Given the description of an element on the screen output the (x, y) to click on. 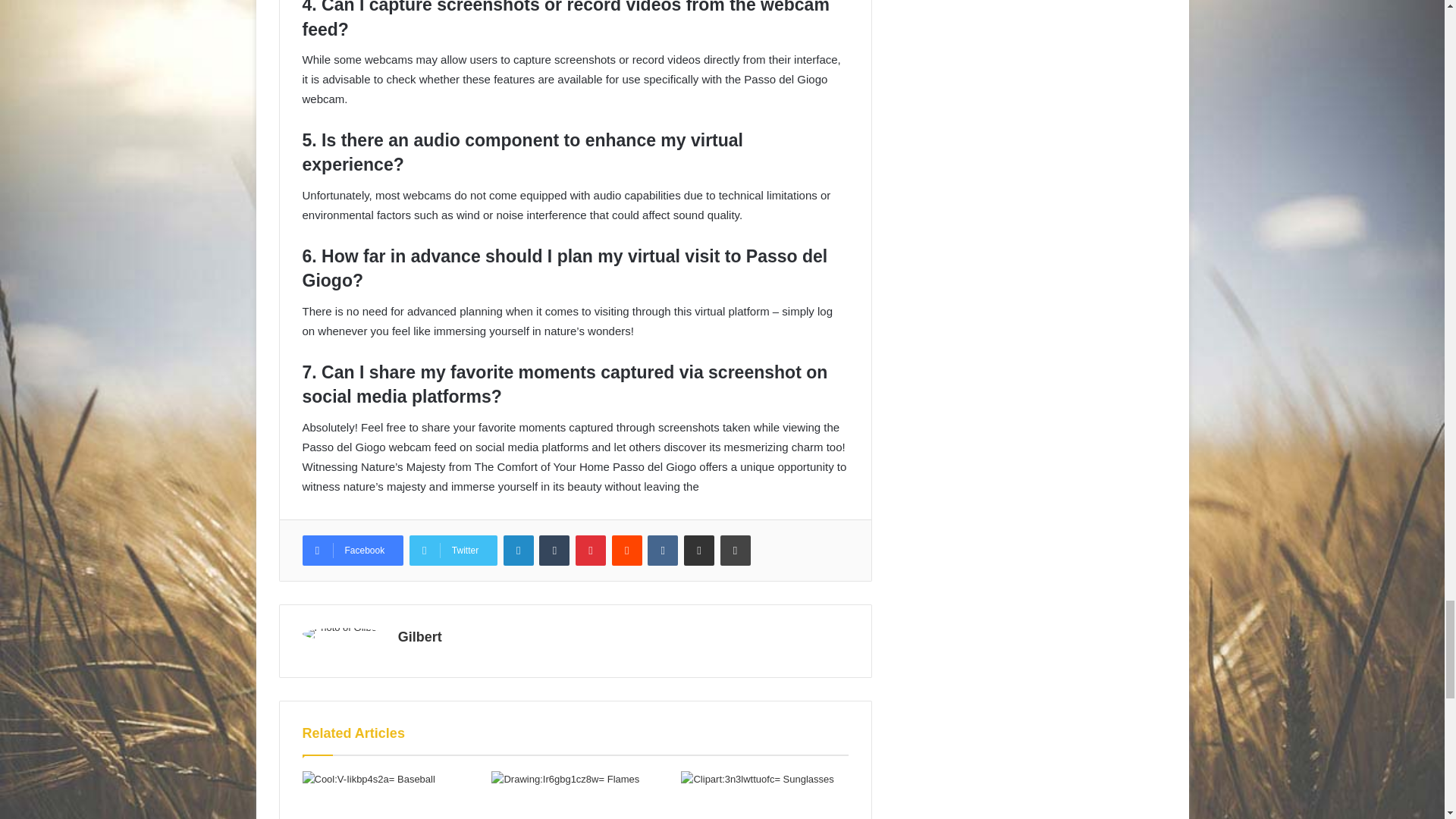
Reddit (626, 550)
Facebook (352, 550)
Print (735, 550)
Gilbert (419, 636)
Print (735, 550)
VKontakte (662, 550)
Share via Email (699, 550)
LinkedIn (518, 550)
Pinterest (590, 550)
Twitter (453, 550)
